Given the description of an element on the screen output the (x, y) to click on. 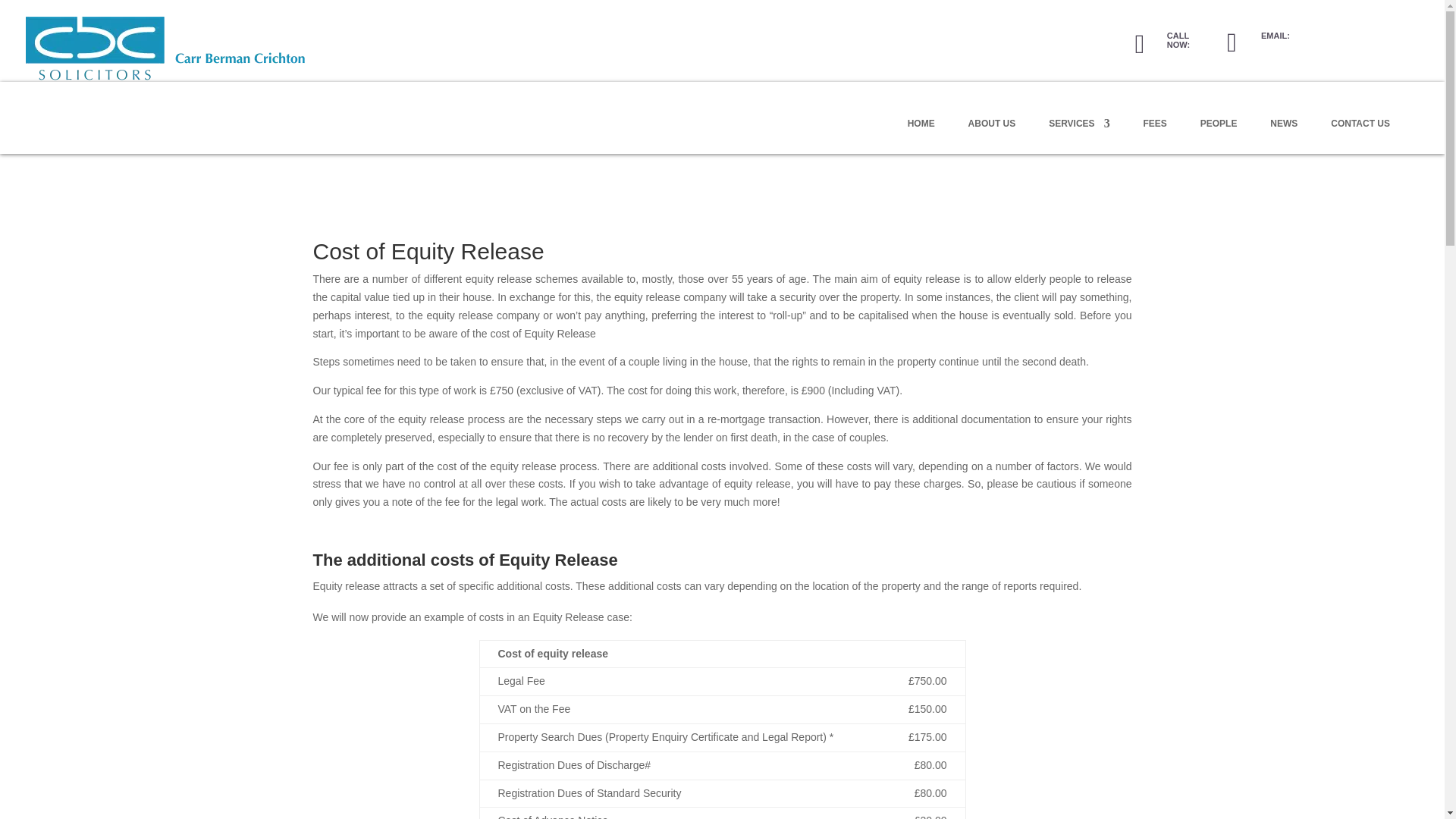
SERVICES (1078, 135)
CONTACT US (1360, 135)
PEOPLE (1218, 135)
0141 647 9851 (1180, 48)
ABOUT US (992, 135)
